Given the description of an element on the screen output the (x, y) to click on. 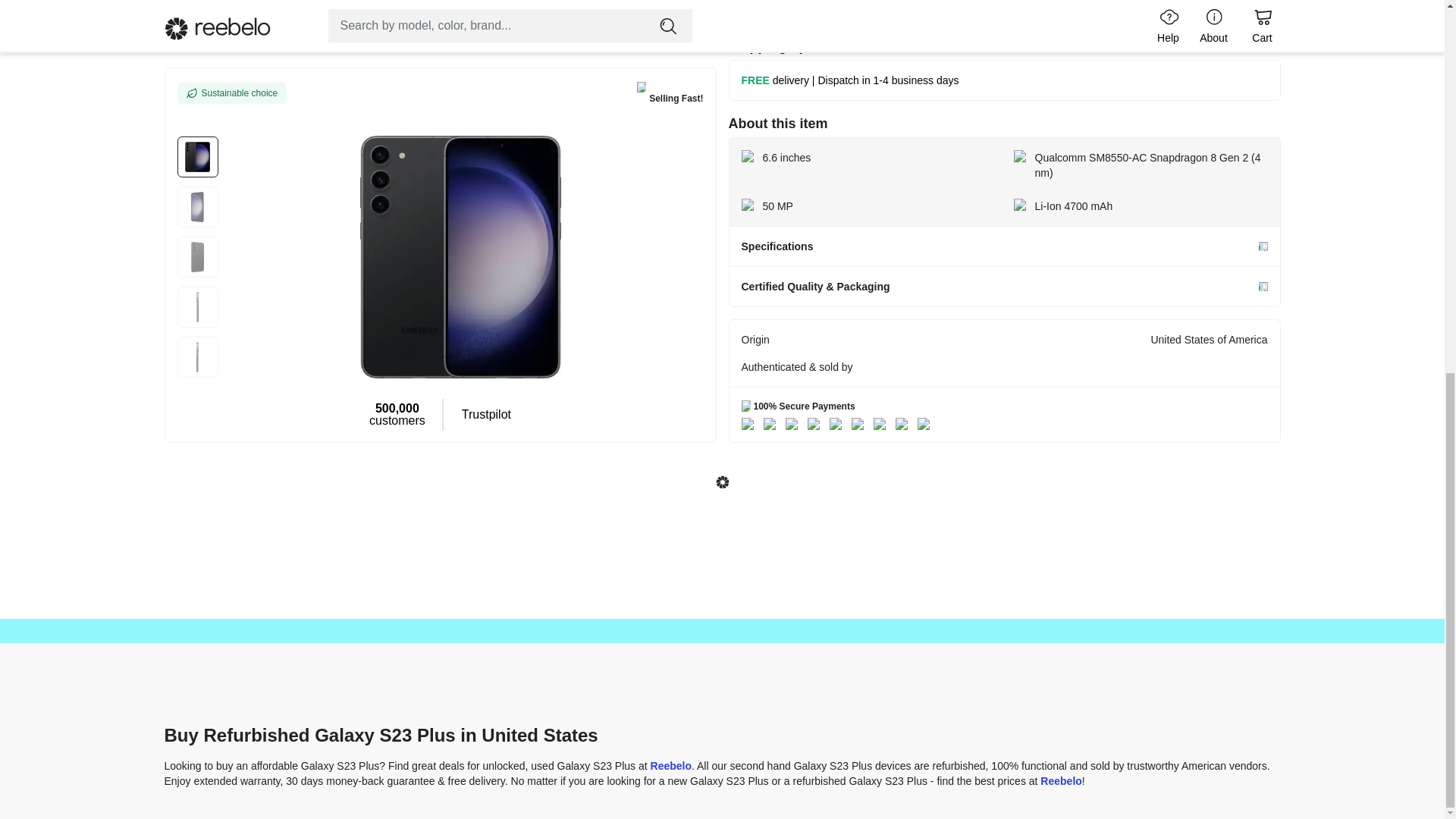
Mastercard (771, 423)
American Express (795, 423)
Appley Pay (904, 423)
JCB (859, 423)
Diners Club (882, 423)
Visa (750, 423)
PayPal (926, 423)
Discover (815, 423)
Klarna (838, 423)
